Given the description of an element on the screen output the (x, y) to click on. 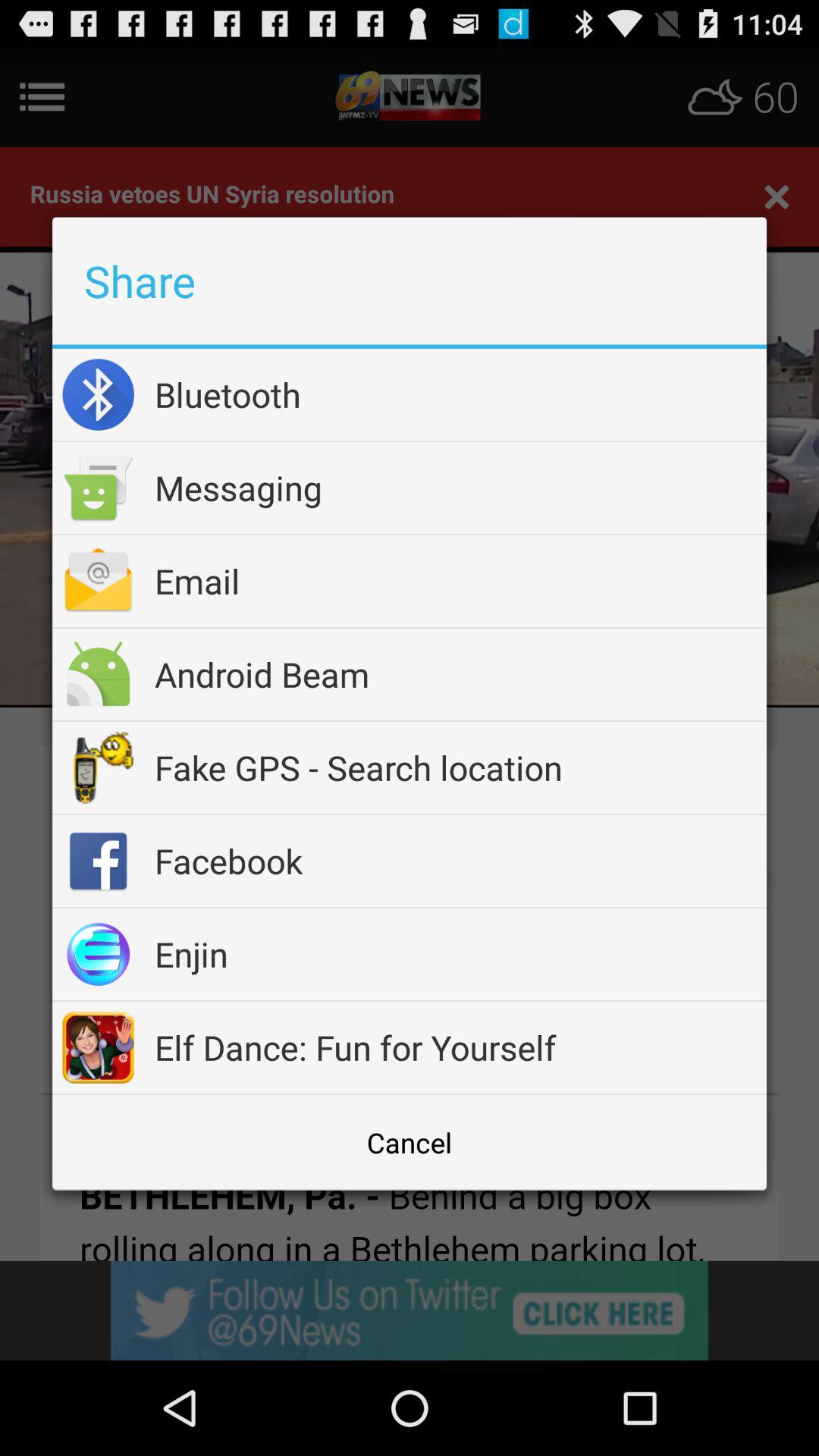
scroll to the cancel button (409, 1142)
